Given the description of an element on the screen output the (x, y) to click on. 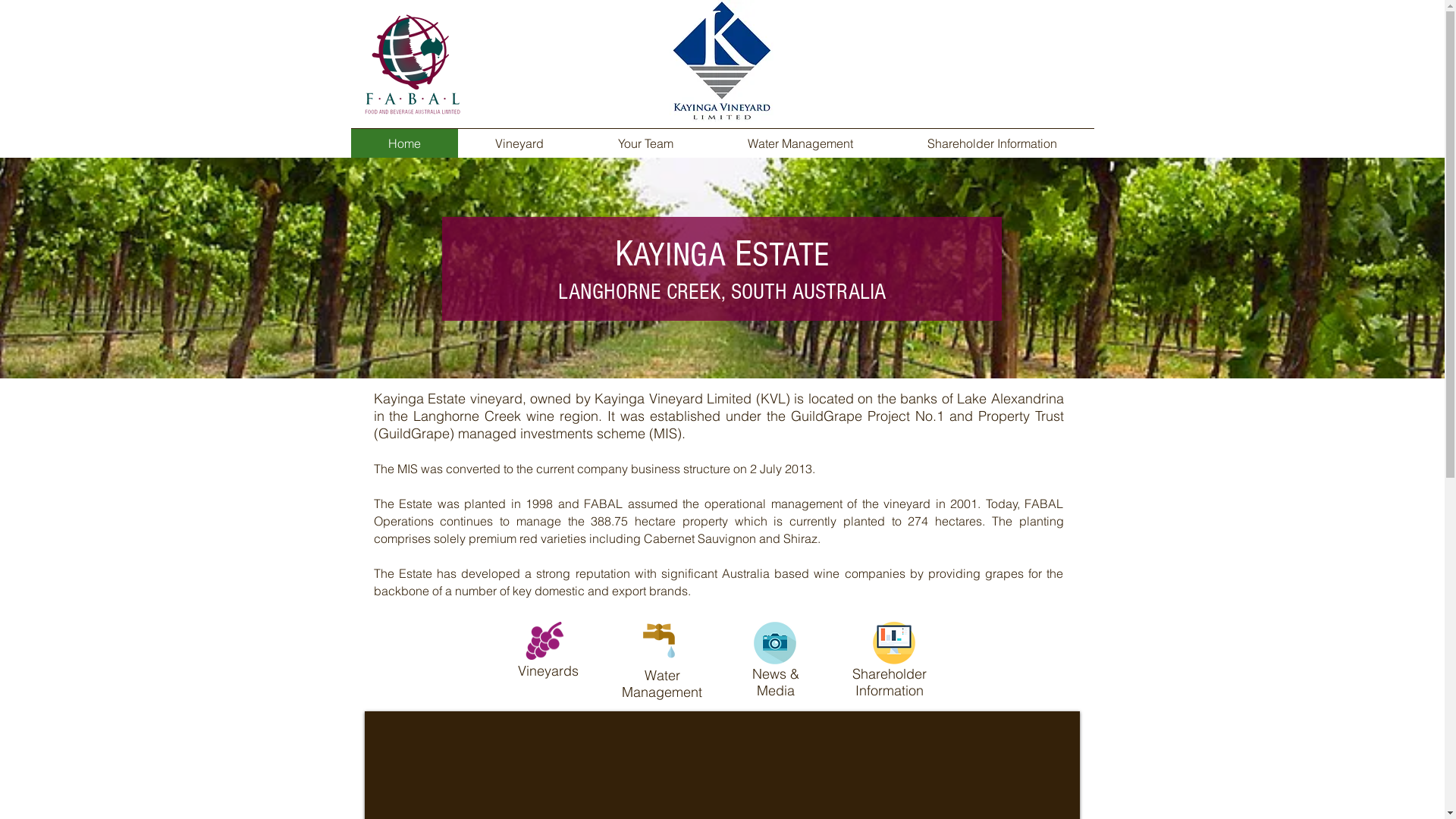
Water Management Element type: text (799, 142)
Home Element type: hover (720, 60)
Your Team Element type: text (645, 142)
Home Element type: text (403, 142)
Vineyard Element type: text (519, 142)
FABAL web site Element type: hover (411, 64)
Shareholder Information Element type: text (992, 142)
